Given the description of an element on the screen output the (x, y) to click on. 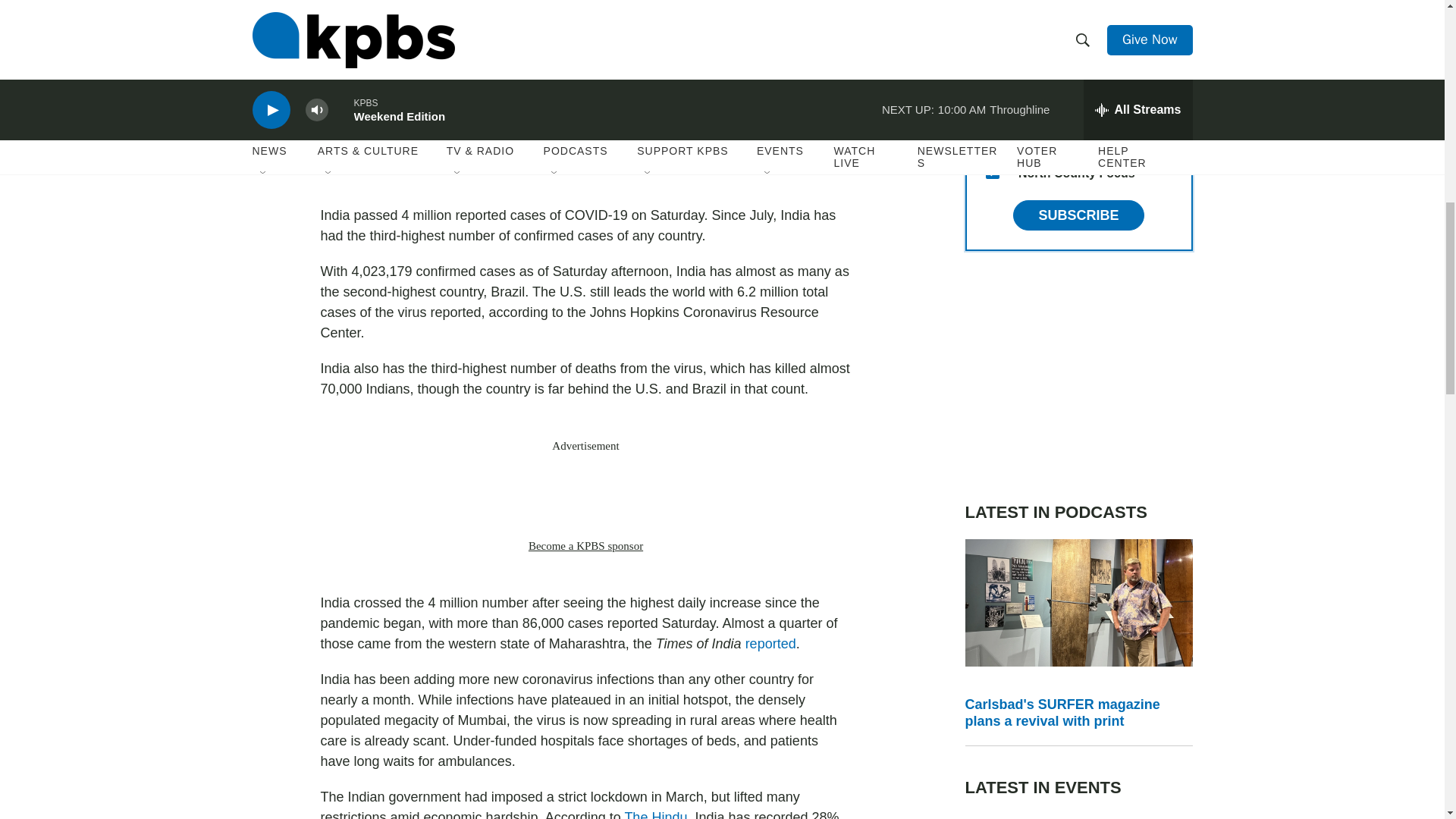
3rd party ad content (1077, 375)
8 (991, 135)
3rd party ad content (584, 495)
1 (991, 99)
6 (991, 26)
2 (991, 62)
15 (991, 172)
